Given the description of an element on the screen output the (x, y) to click on. 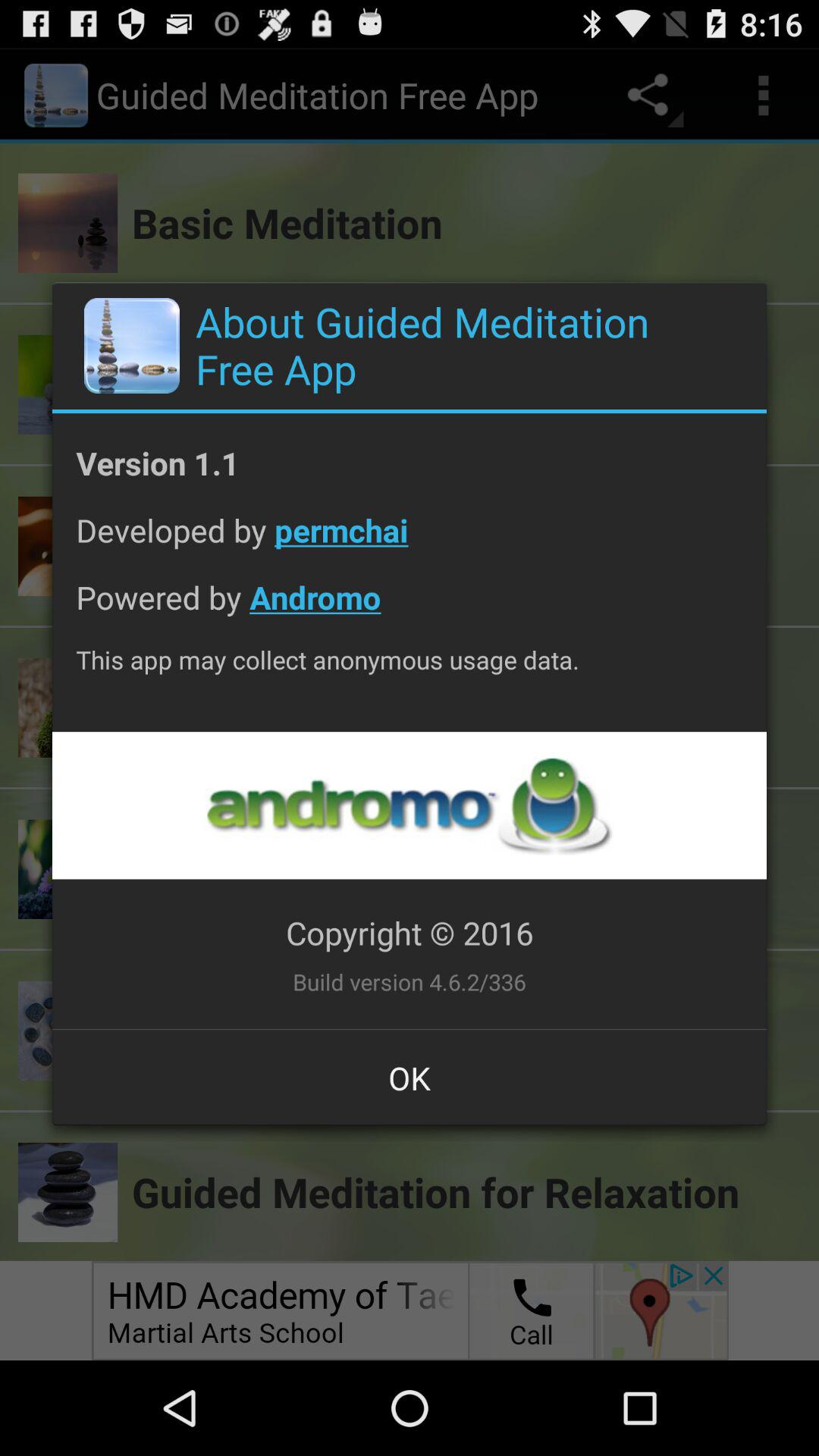
jump to developed by permchai icon (409, 541)
